Given the description of an element on the screen output the (x, y) to click on. 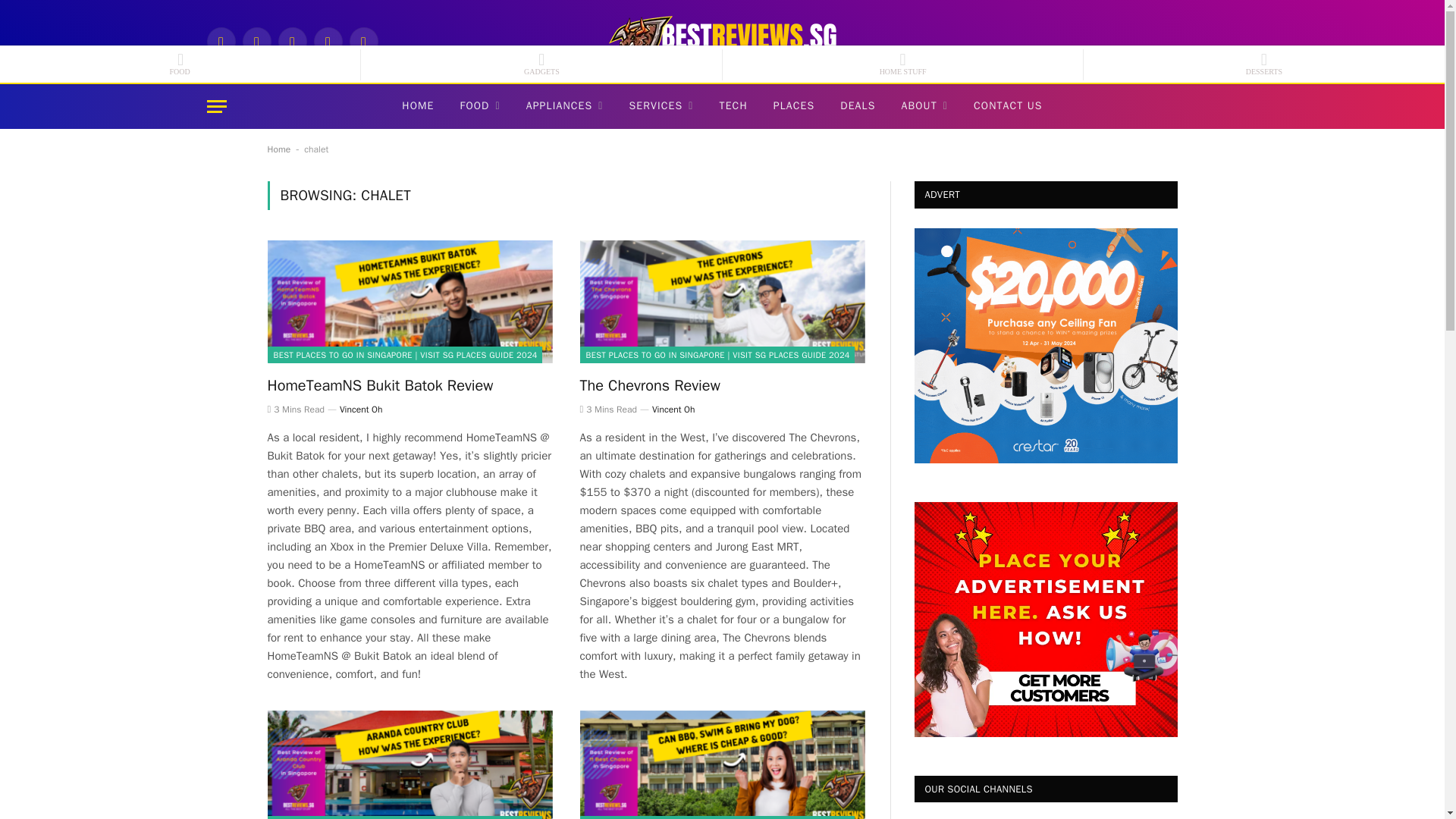
FOOD (479, 105)
Facebook (220, 41)
HOME (417, 105)
YouTube (363, 41)
Telegram (328, 41)
Instagram (256, 41)
BestReviews.sg (721, 41)
APPLIANCES (564, 105)
